Given the description of an element on the screen output the (x, y) to click on. 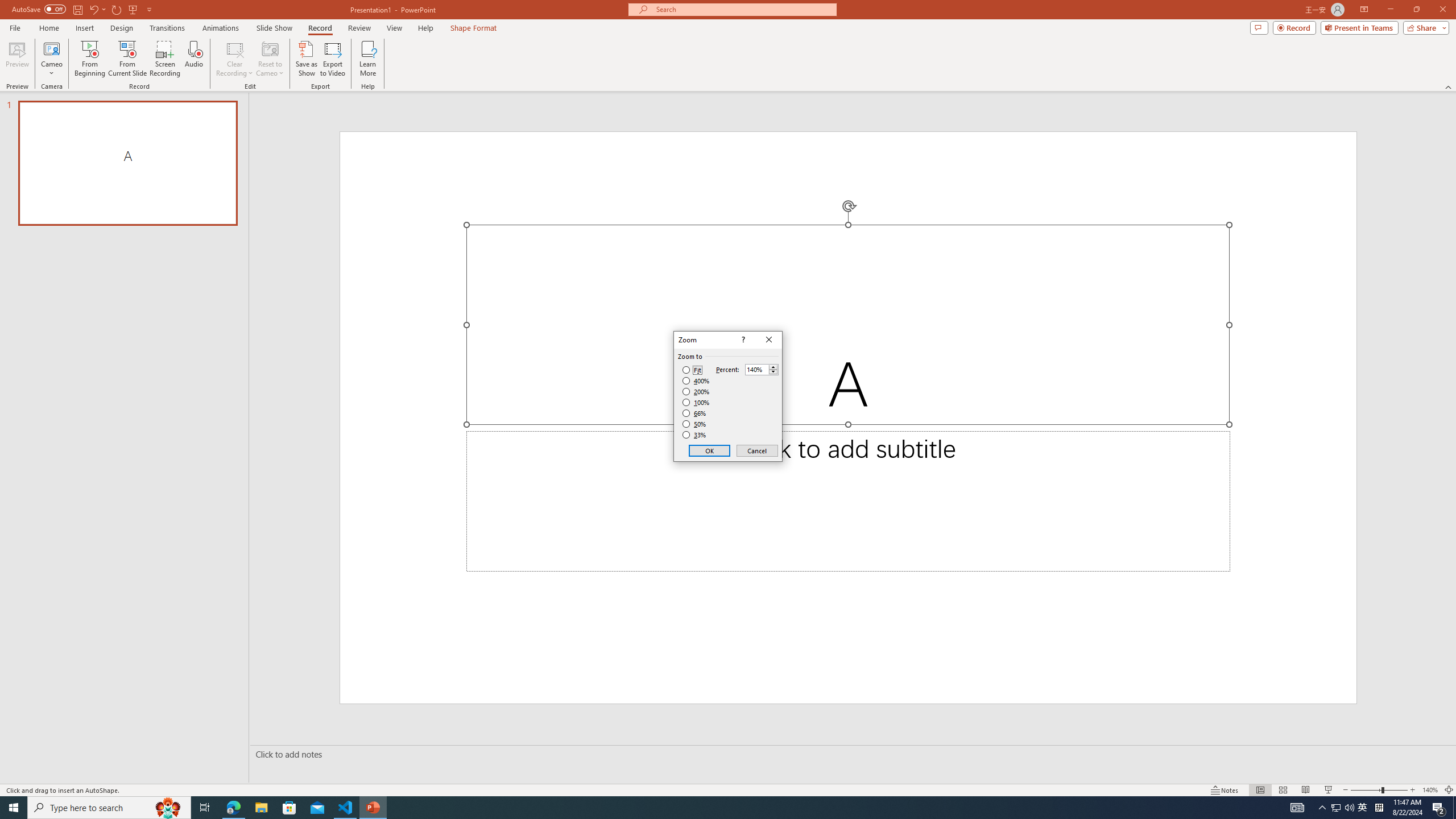
Learn More (368, 58)
Export to Video (332, 58)
From Beginning... (89, 58)
OK (709, 450)
